Given the description of an element on the screen output the (x, y) to click on. 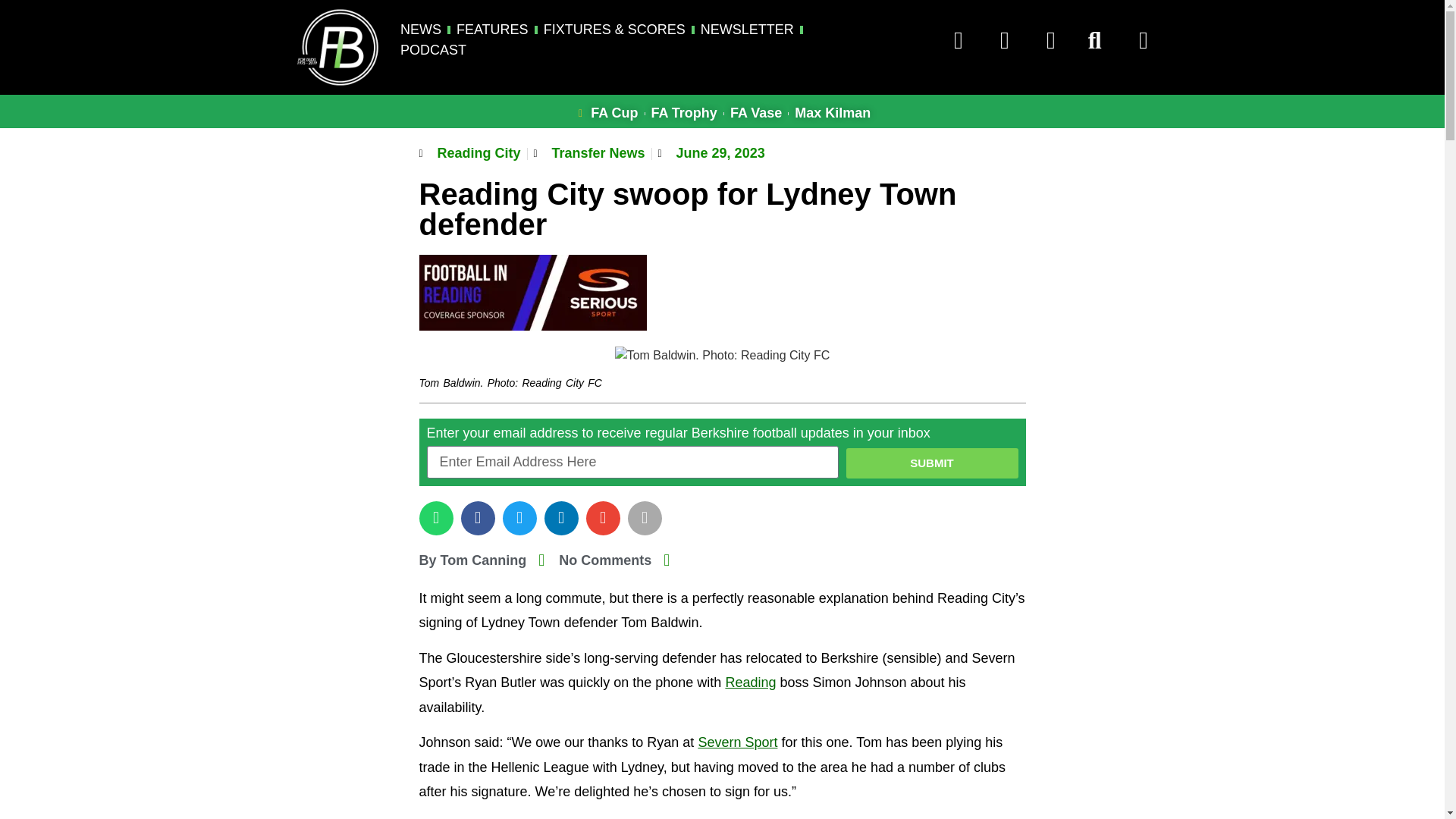
June 29, 2023 (711, 153)
Severn Sport (737, 742)
FA Vase (755, 113)
NEWSLETTER (746, 29)
No Comments (594, 560)
FEATURES (492, 29)
Tom-Baldwin (721, 355)
NEWS (420, 29)
SUBMIT (931, 462)
FA Cup (606, 113)
PODCAST (432, 50)
Reading (750, 682)
Max Kilman (832, 113)
FA Trophy (683, 113)
By Tom Canning (472, 560)
